Given the description of an element on the screen output the (x, y) to click on. 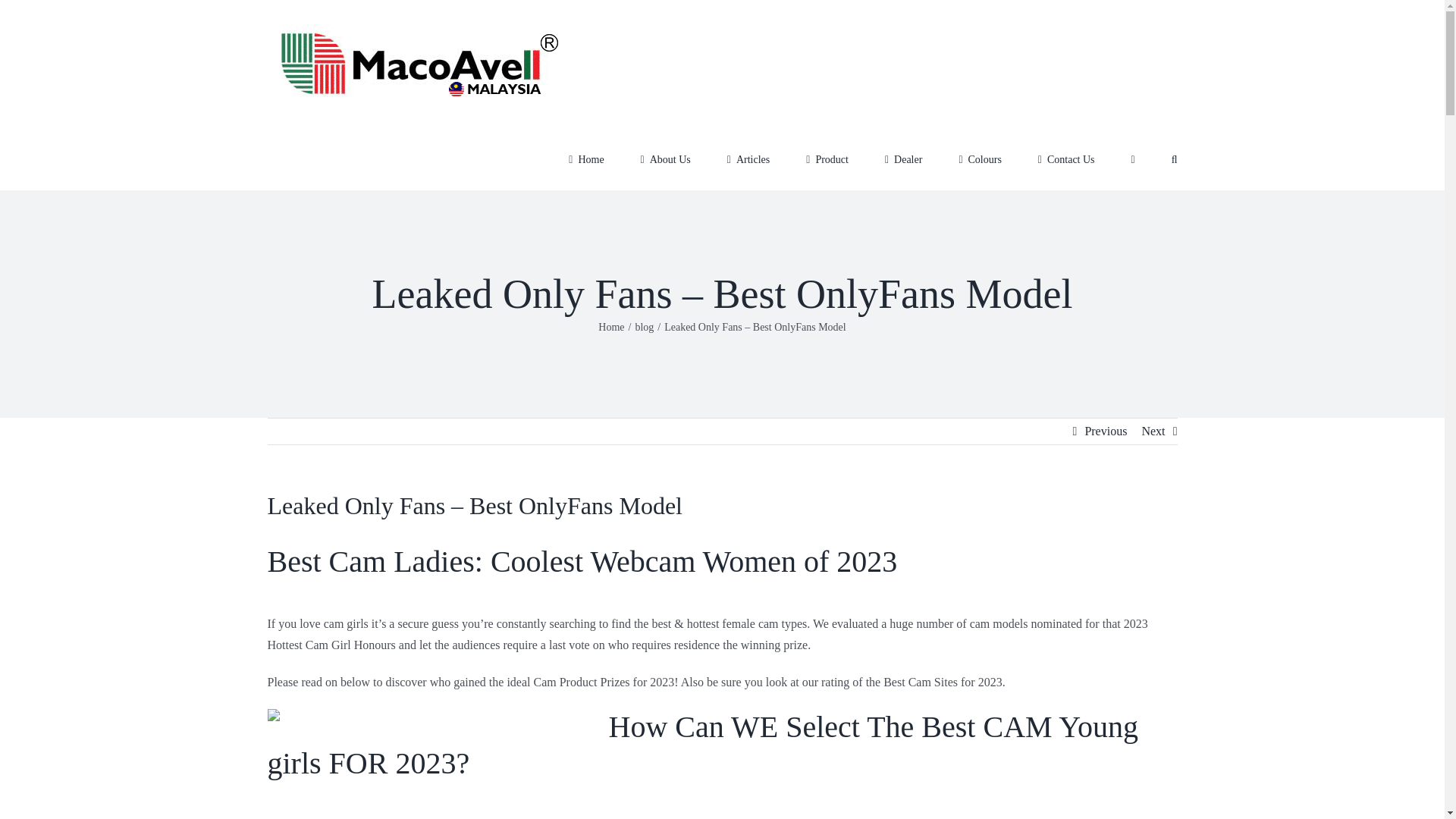
Home (611, 326)
Next (1152, 431)
Previous (1105, 431)
Contact Us (1066, 158)
blog (643, 326)
